Given the description of an element on the screen output the (x, y) to click on. 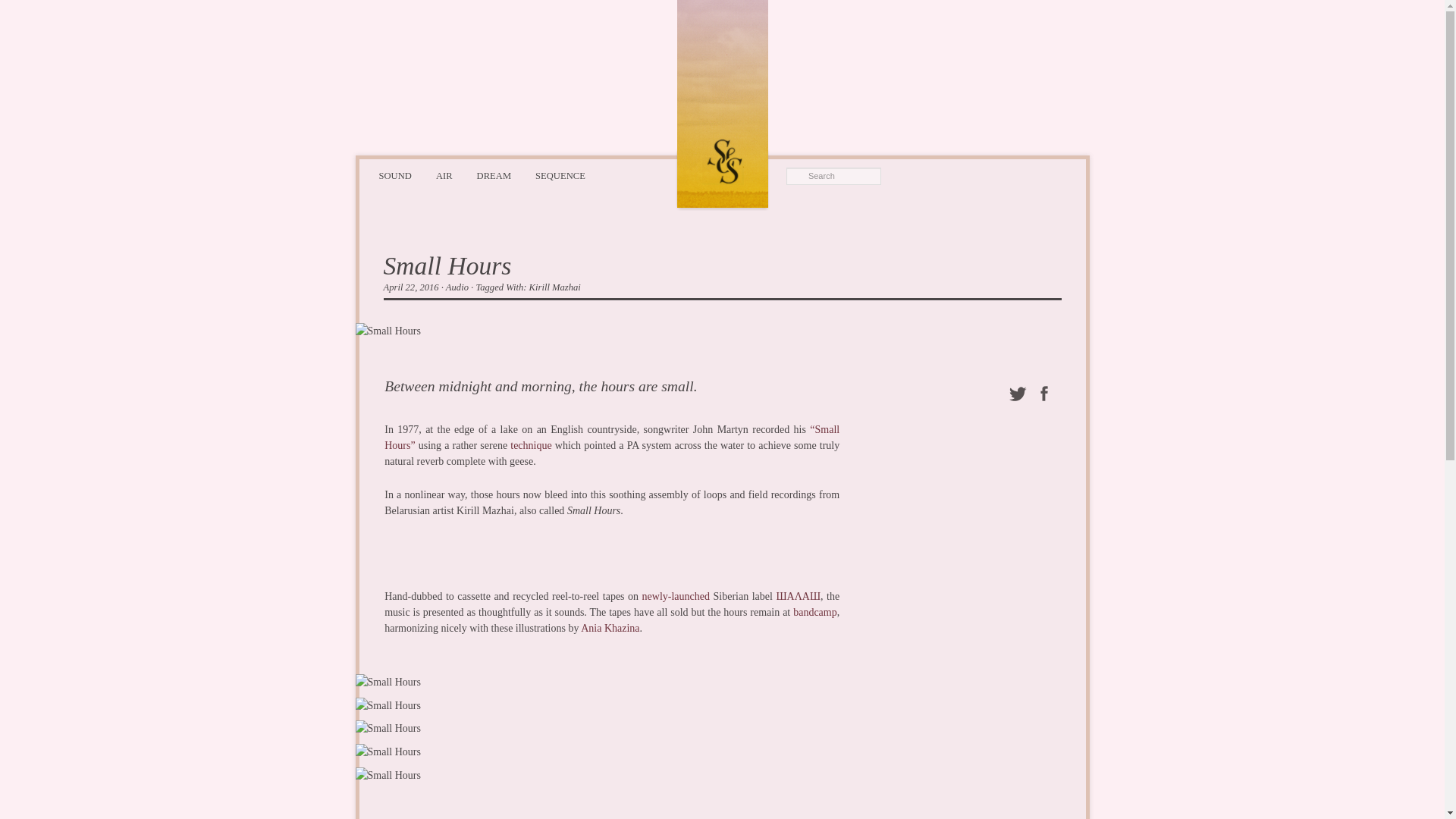
technique (531, 445)
Share on Twitter (1016, 393)
SOUND (394, 175)
DREAM (493, 175)
AIR (443, 175)
Audio (456, 286)
Ania Khazina (609, 627)
bandcamp (815, 612)
Kirill Mazhai (554, 286)
newly-launched (676, 595)
